Given the description of an element on the screen output the (x, y) to click on. 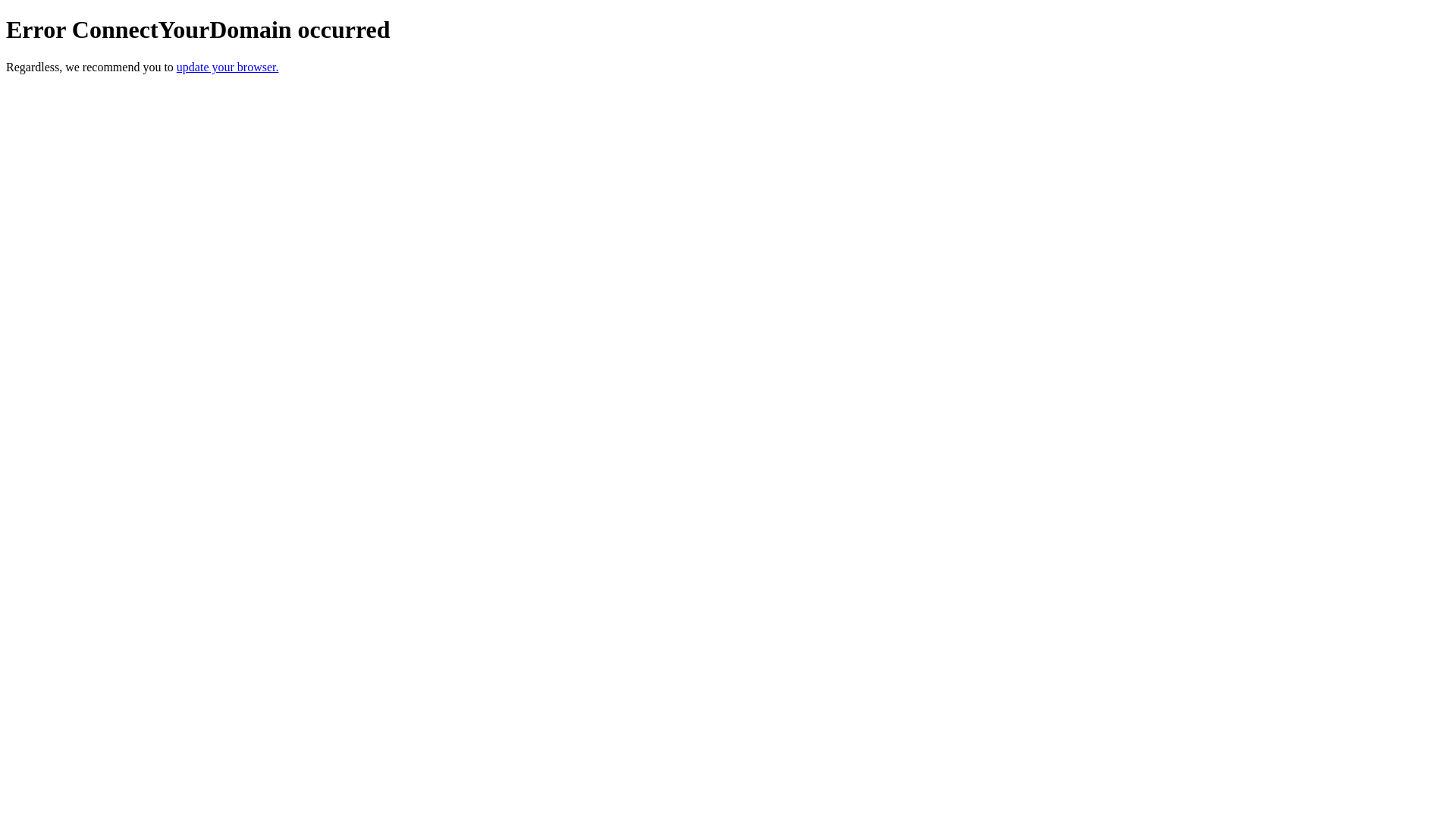
update your browser. Element type: text (227, 66)
